Given the description of an element on the screen output the (x, y) to click on. 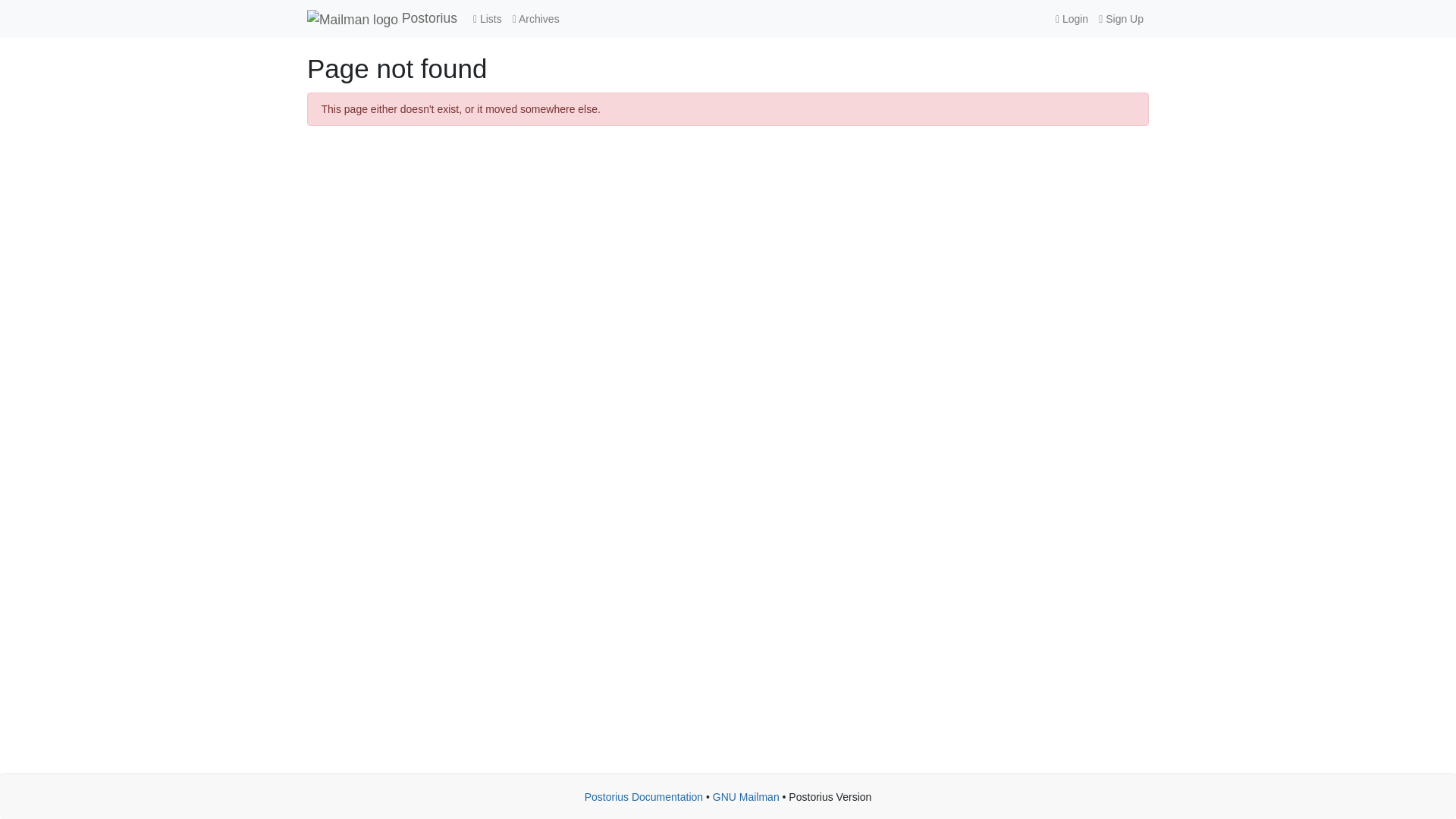
Archives (535, 18)
Login (1071, 18)
Postorius (382, 18)
Lists (486, 18)
Sign Up (1120, 18)
